Given the description of an element on the screen output the (x, y) to click on. 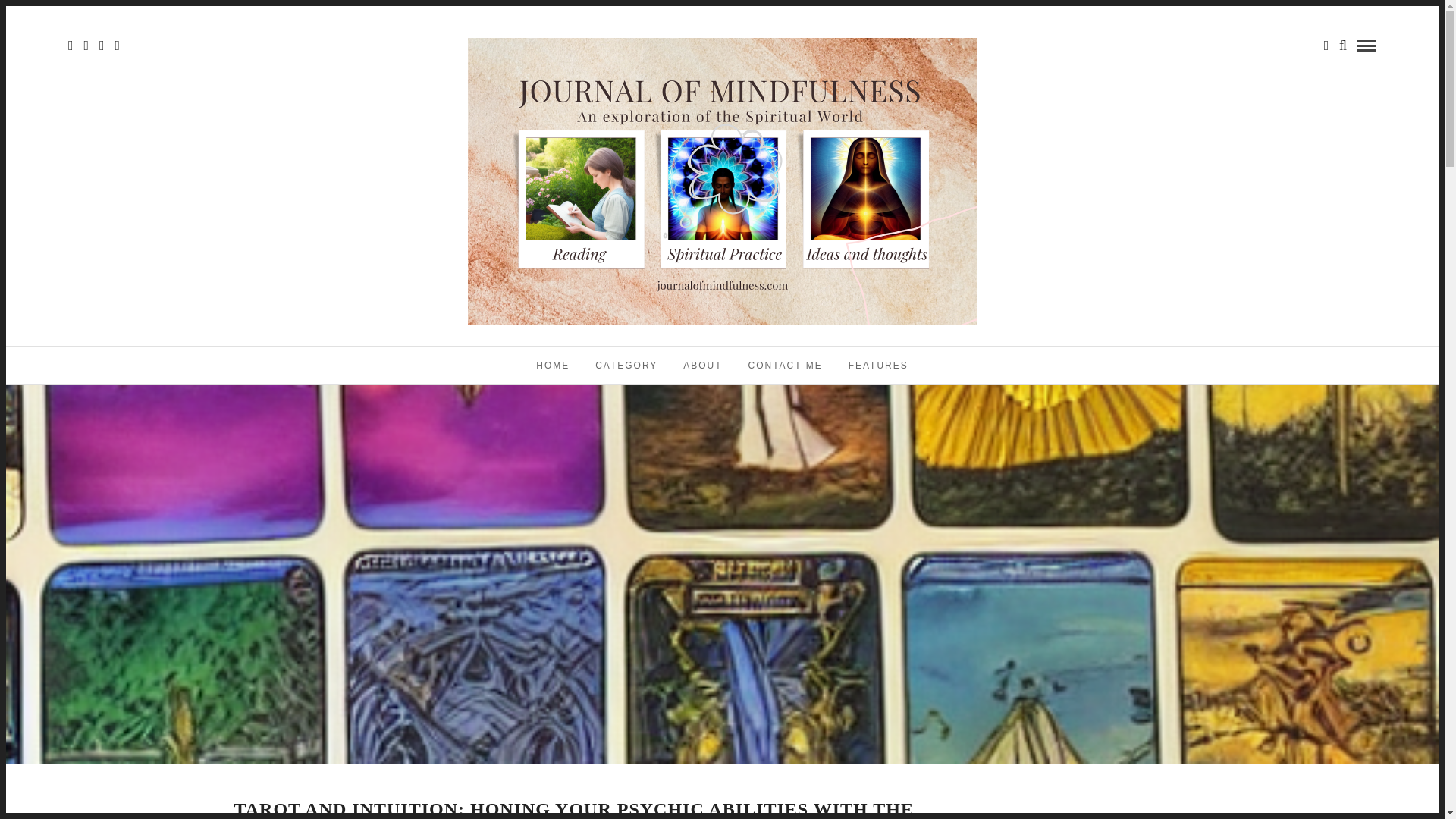
FEATURES (878, 365)
Linkedin (101, 45)
CATEGORY (625, 365)
HOME (552, 365)
Instagram (117, 45)
CONTACT ME (785, 365)
ABOUT (702, 365)
